Given the description of an element on the screen output the (x, y) to click on. 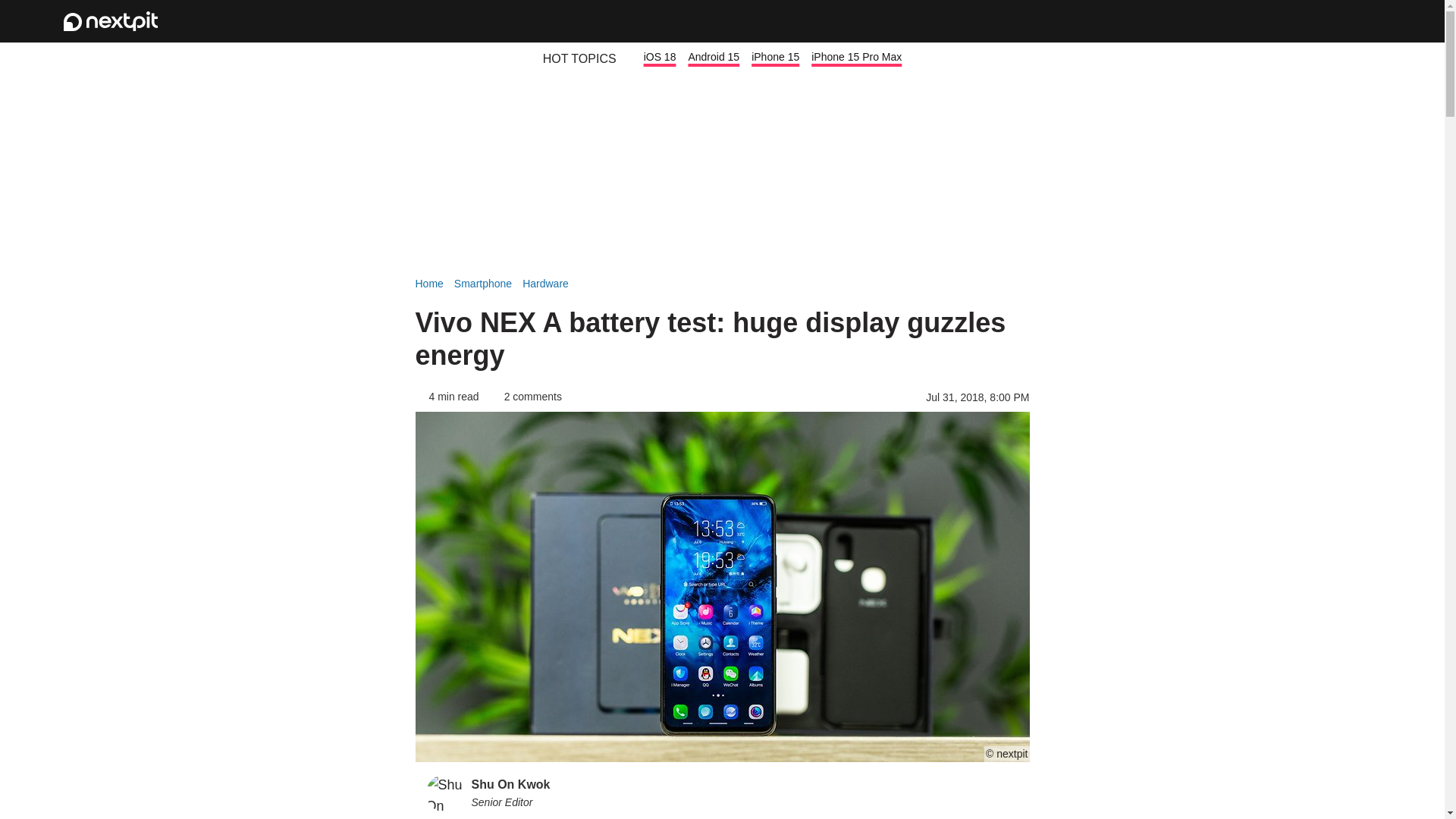
Login (1321, 21)
4 min read (446, 396)
Jul 31, 2018, 8:00:01 PM (977, 397)
To the nextpit homepage (110, 21)
